Given the description of an element on the screen output the (x, y) to click on. 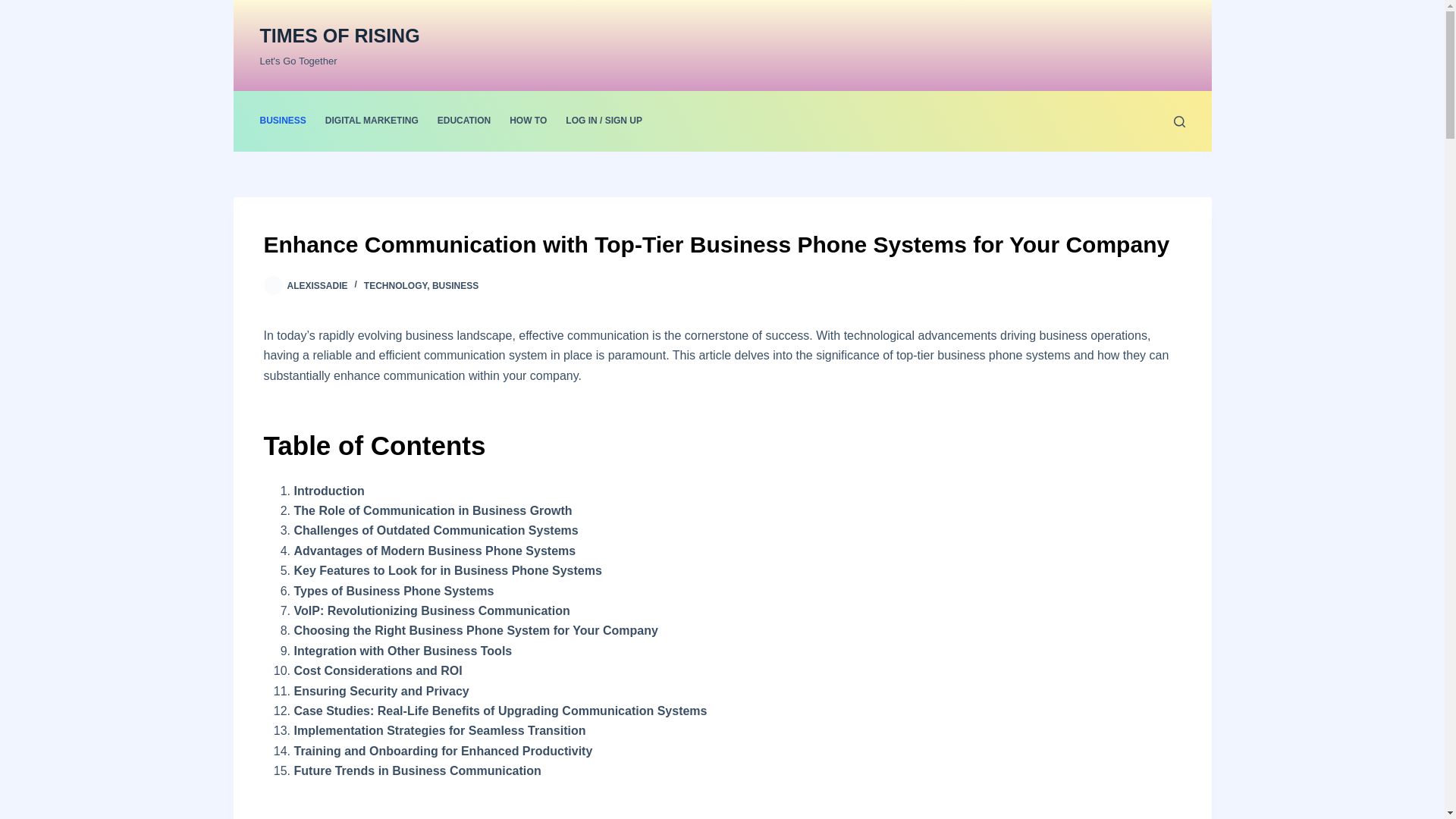
TIMES OF RISING (339, 35)
Skip to content (15, 7)
TECHNOLOGY (395, 285)
Posts by alexissadie (316, 285)
BUSINESS (455, 285)
DIGITAL MARKETING (371, 120)
ALEXISSADIE (316, 285)
EDUCATION (463, 120)
HOW TO (528, 120)
BUSINESS (287, 120)
